Given the description of an element on the screen output the (x, y) to click on. 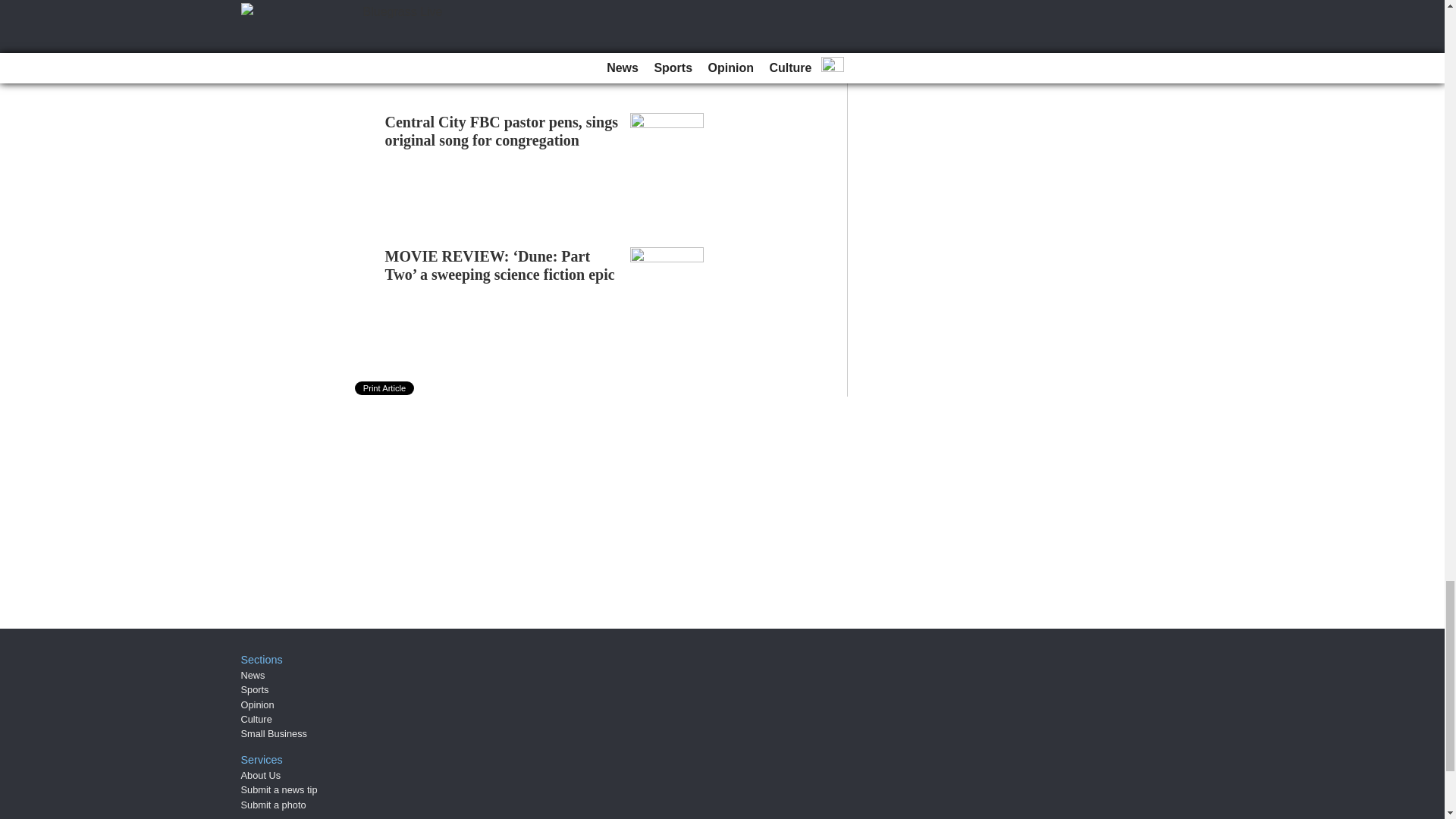
Sports (255, 689)
Culture (256, 718)
Submit a photo (273, 804)
News (252, 674)
Submit a news tip (279, 789)
Print Article (384, 387)
Small Business (274, 733)
About Us (261, 775)
